Given the description of an element on the screen output the (x, y) to click on. 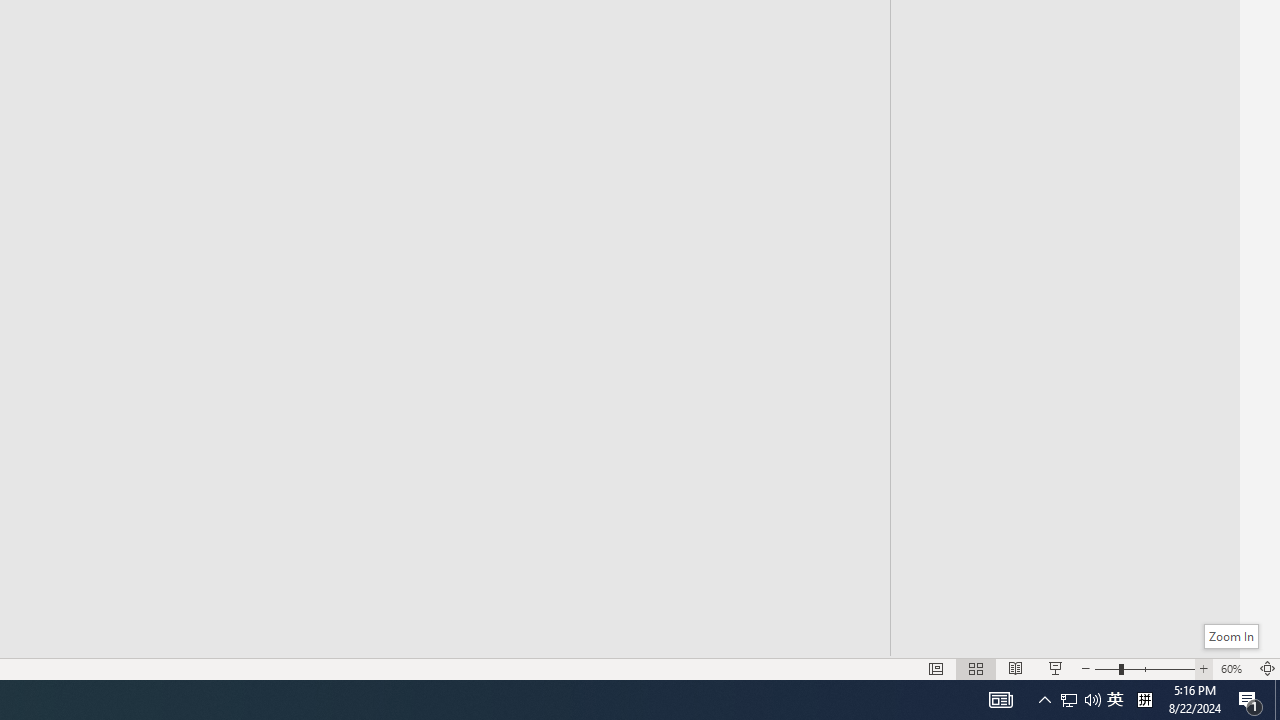
Zoom 60% (1234, 668)
